Given the description of an element on the screen output the (x, y) to click on. 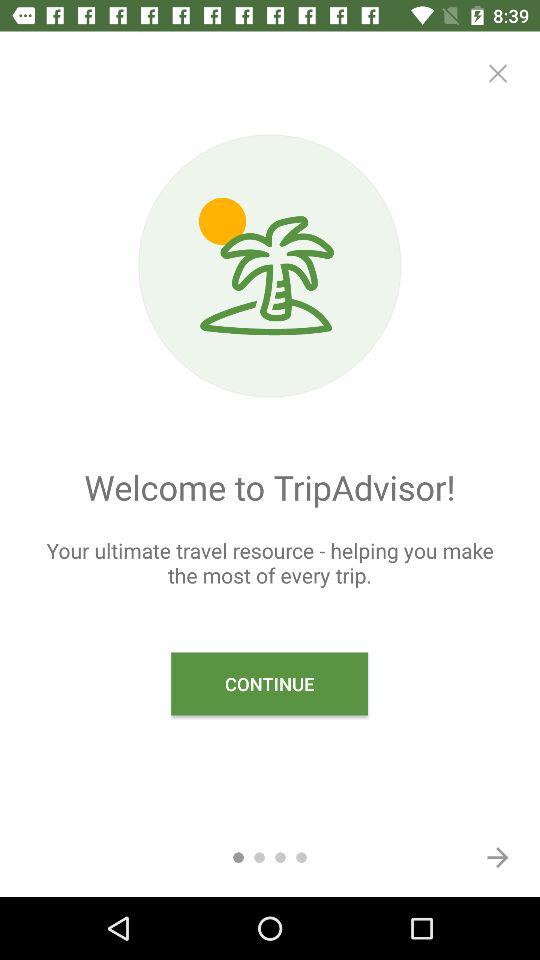
press the item at the bottom right corner (498, 857)
